Given the description of an element on the screen output the (x, y) to click on. 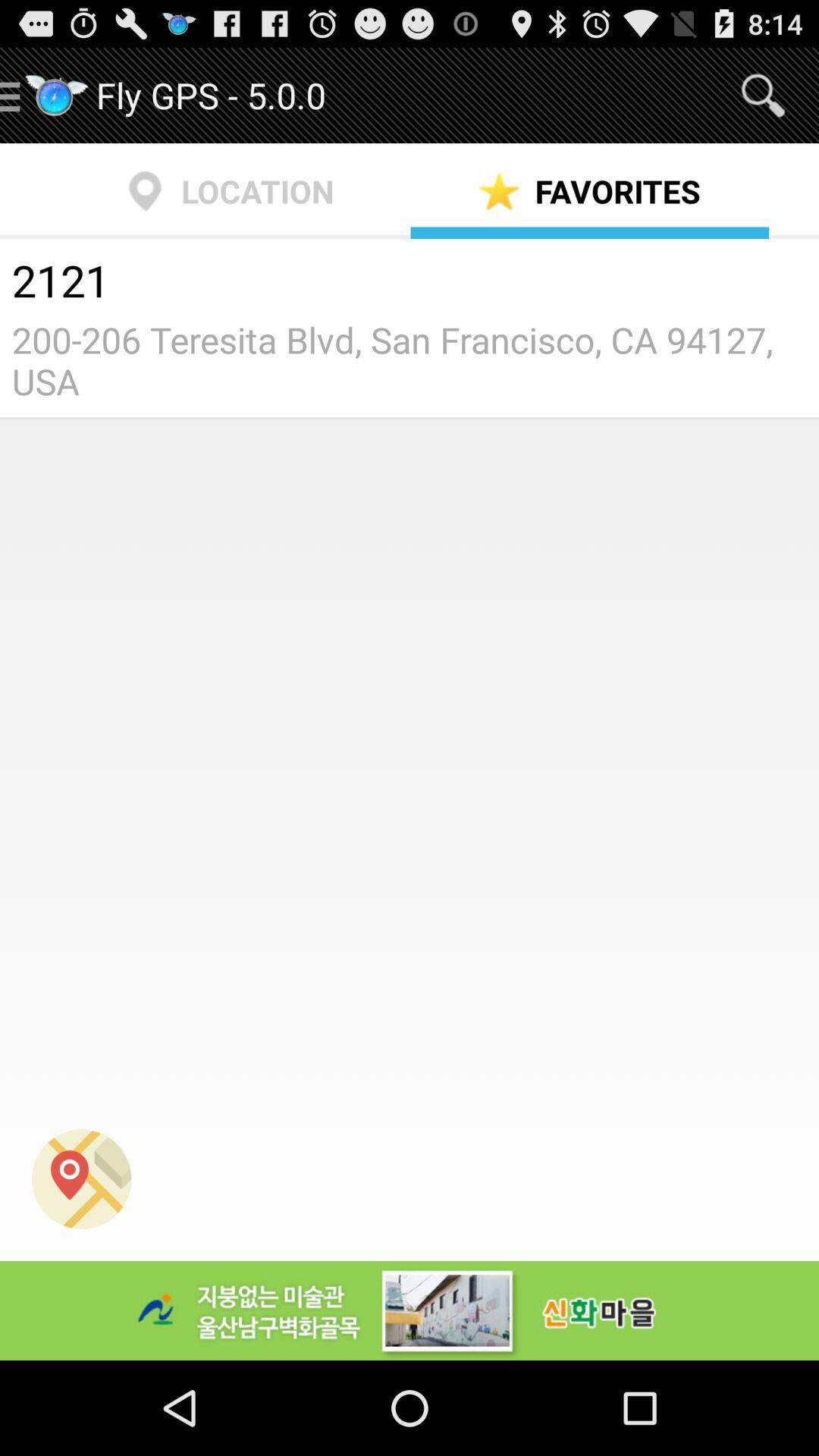
flip to 200 206 teresita icon (409, 360)
